Given the description of an element on the screen output the (x, y) to click on. 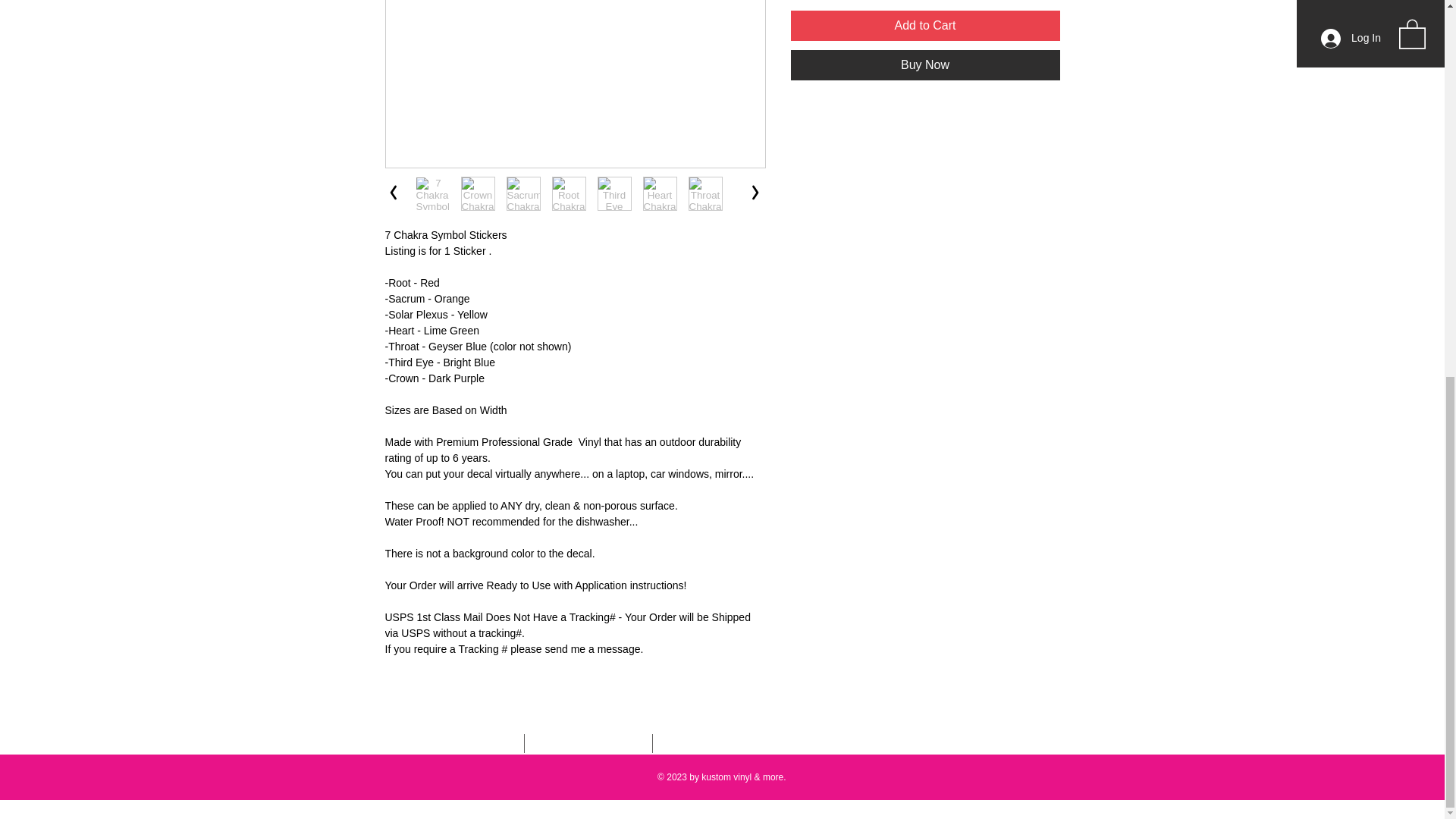
Add to Cart (924, 25)
Buy Now (924, 64)
